Given the description of an element on the screen output the (x, y) to click on. 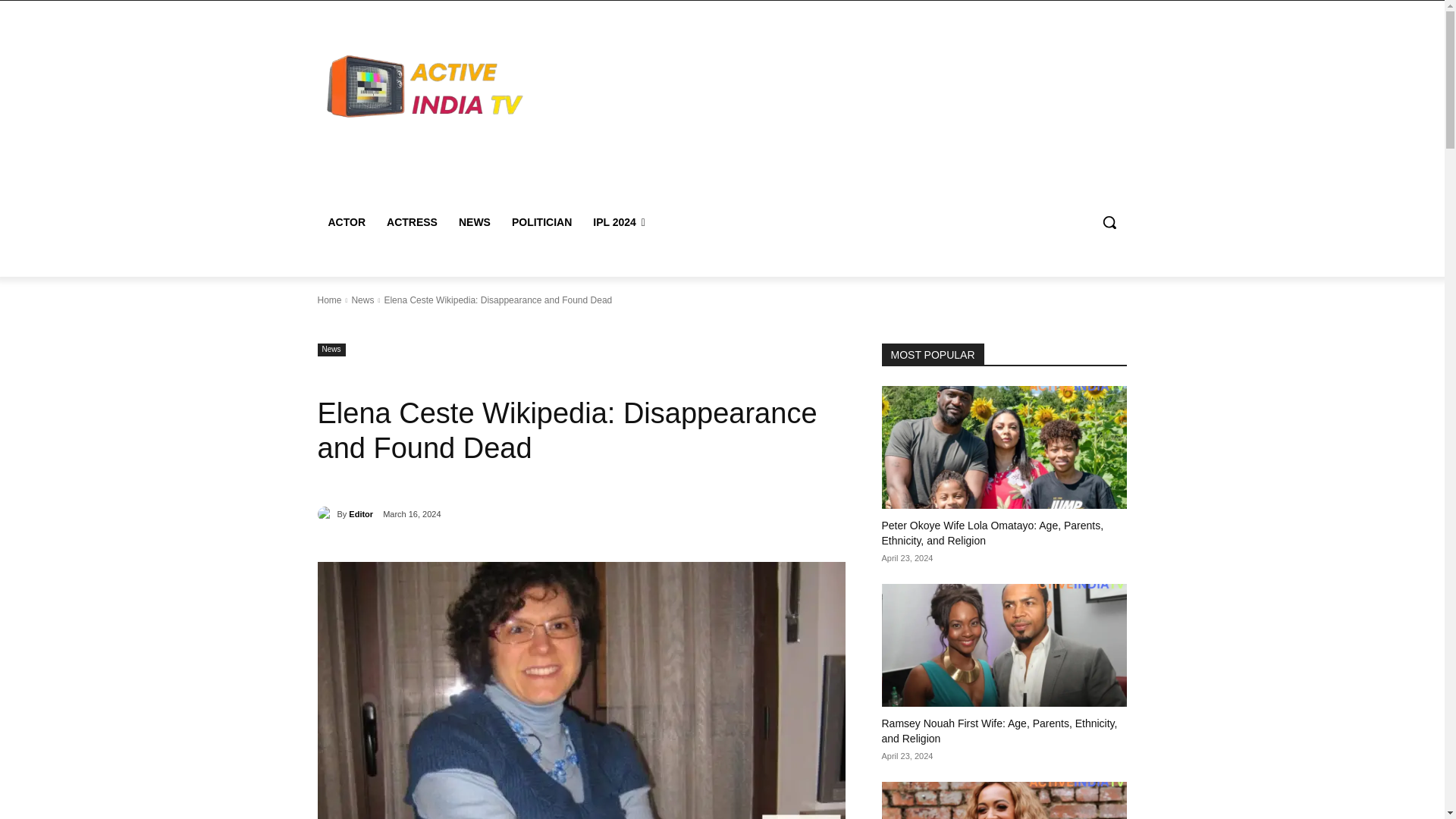
ACTRESS (411, 221)
News (331, 349)
View all posts in News (362, 299)
News (362, 299)
POLITICIAN (541, 221)
Home (328, 299)
Editor (326, 513)
NEWS (474, 221)
ACTOR (346, 221)
Editor (360, 513)
IPL 2024 (619, 221)
